Given the description of an element on the screen output the (x, y) to click on. 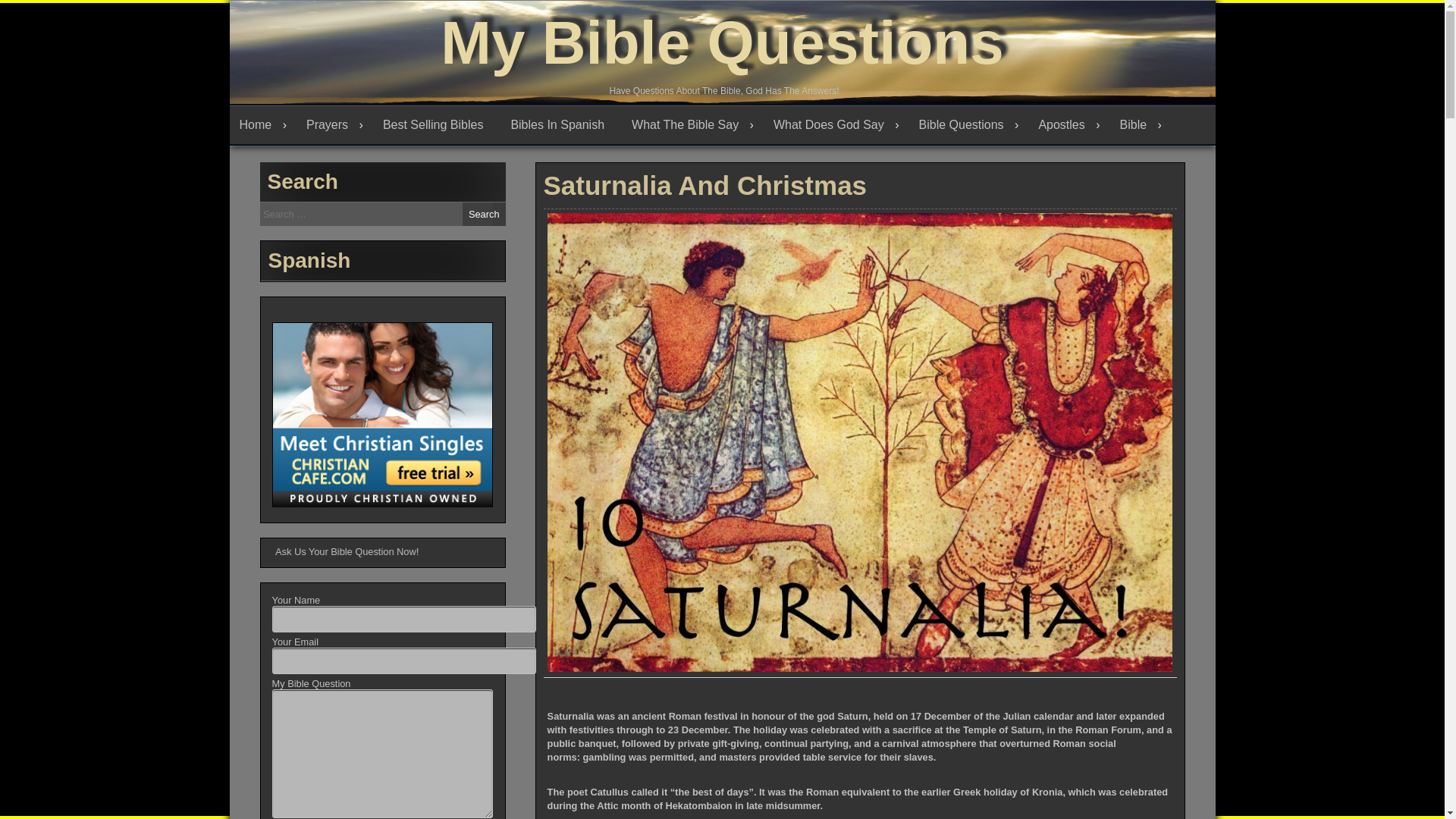
Home (261, 125)
Bible Questions (968, 125)
Apostles (1068, 125)
Search (484, 214)
What The Bible Say (691, 125)
Search (484, 214)
What Does God Say (835, 125)
Best Selling Bibles (436, 125)
My Bible Questions (722, 42)
Bibles In Spanish (560, 125)
Prayers (334, 125)
